Given the description of an element on the screen output the (x, y) to click on. 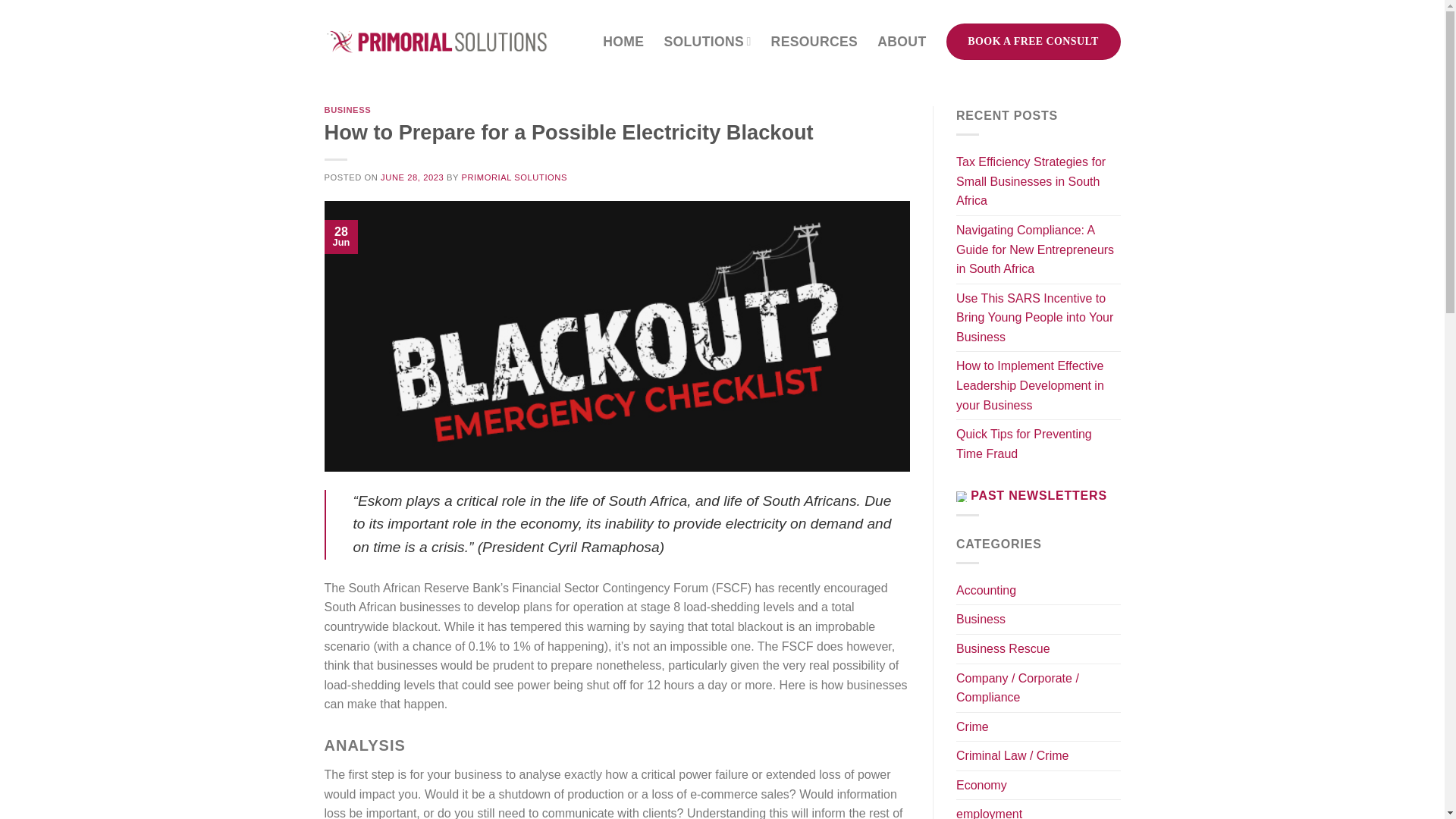
Economy (981, 785)
BUSINESS (347, 109)
JUNE 28, 2023 (412, 176)
Business Rescue (1002, 648)
Crime (972, 727)
ABOUT (901, 41)
HOME (622, 41)
PAST NEWSLETTERS (1038, 495)
Accounting (986, 590)
BOOK A FREE CONSULT (1033, 41)
RESOURCES (815, 41)
